Given the description of an element on the screen output the (x, y) to click on. 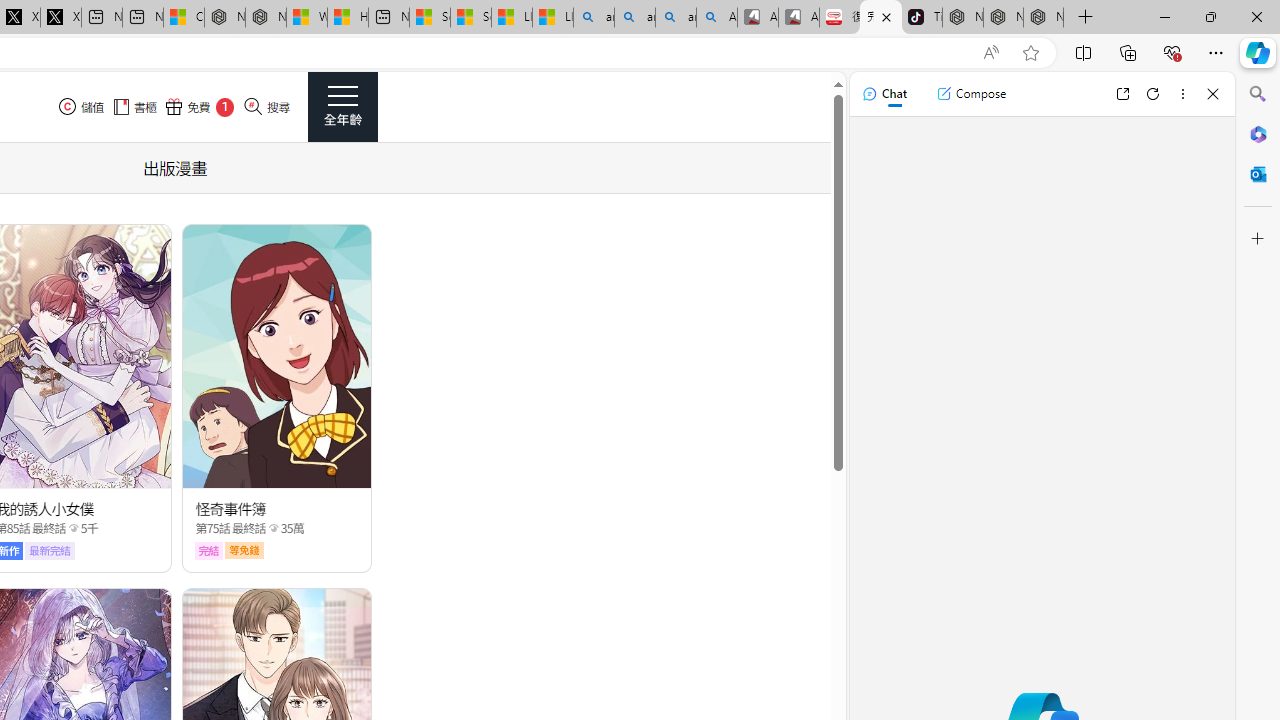
Class: side_menu_btn actionRightMenuBtn (342, 106)
amazon - Search Images (675, 17)
Nordace Siena Pro 15 Backpack (1003, 17)
Nordace - Siena Pro 15 Essential Set (1043, 17)
